Given the description of an element on the screen output the (x, y) to click on. 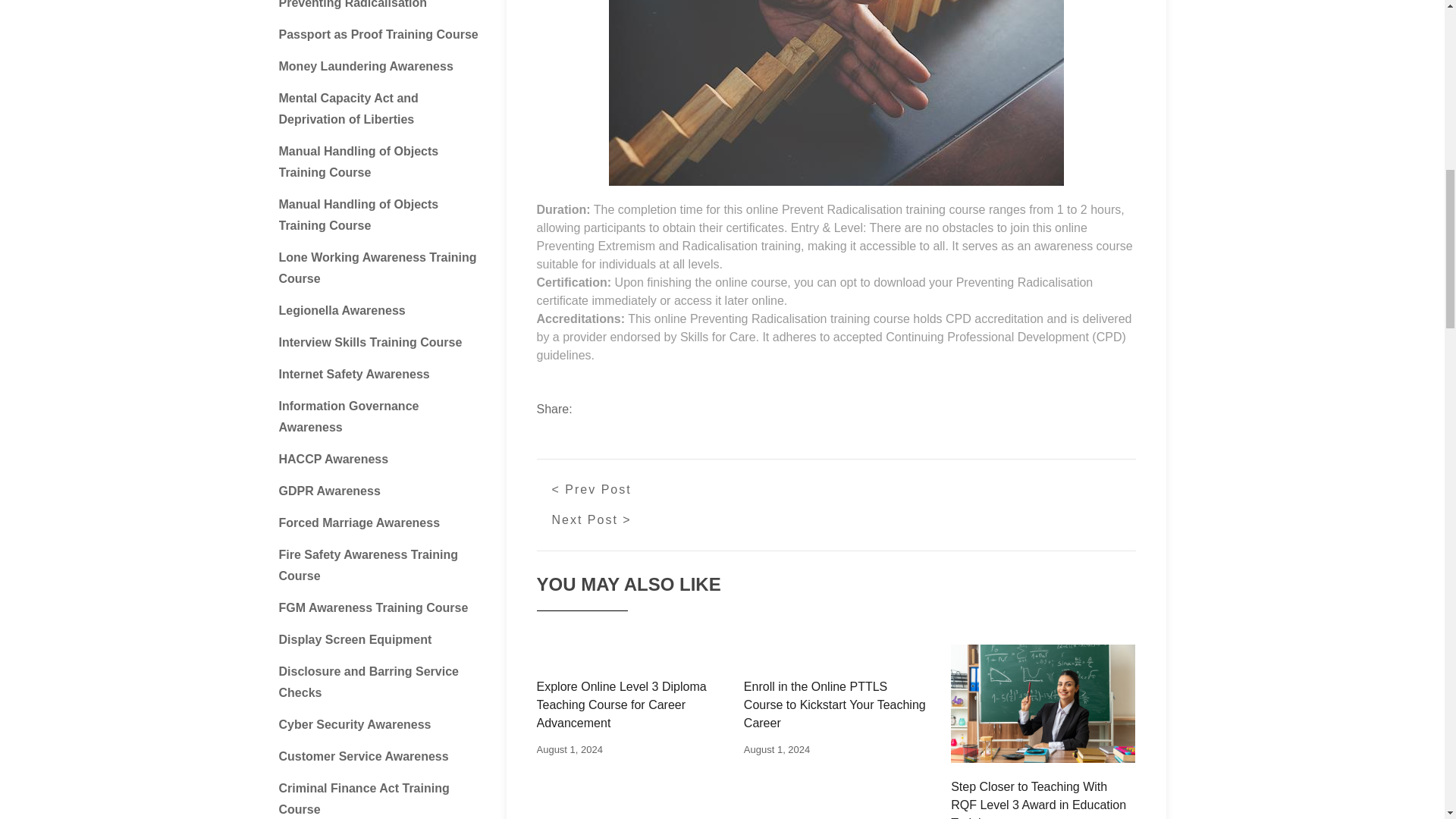
Preventing Radicalisation (353, 4)
Manual Handling of Objects Training Course (359, 214)
Passport as Proof Training Course (379, 33)
Legionella Awareness (342, 309)
Manual Handling of Objects Training Course (359, 161)
Mental Capacity Act and Deprivation of Liberties (349, 108)
Lone Working Awareness Training Course (378, 267)
Money Laundering Awareness (365, 65)
